Given the description of an element on the screen output the (x, y) to click on. 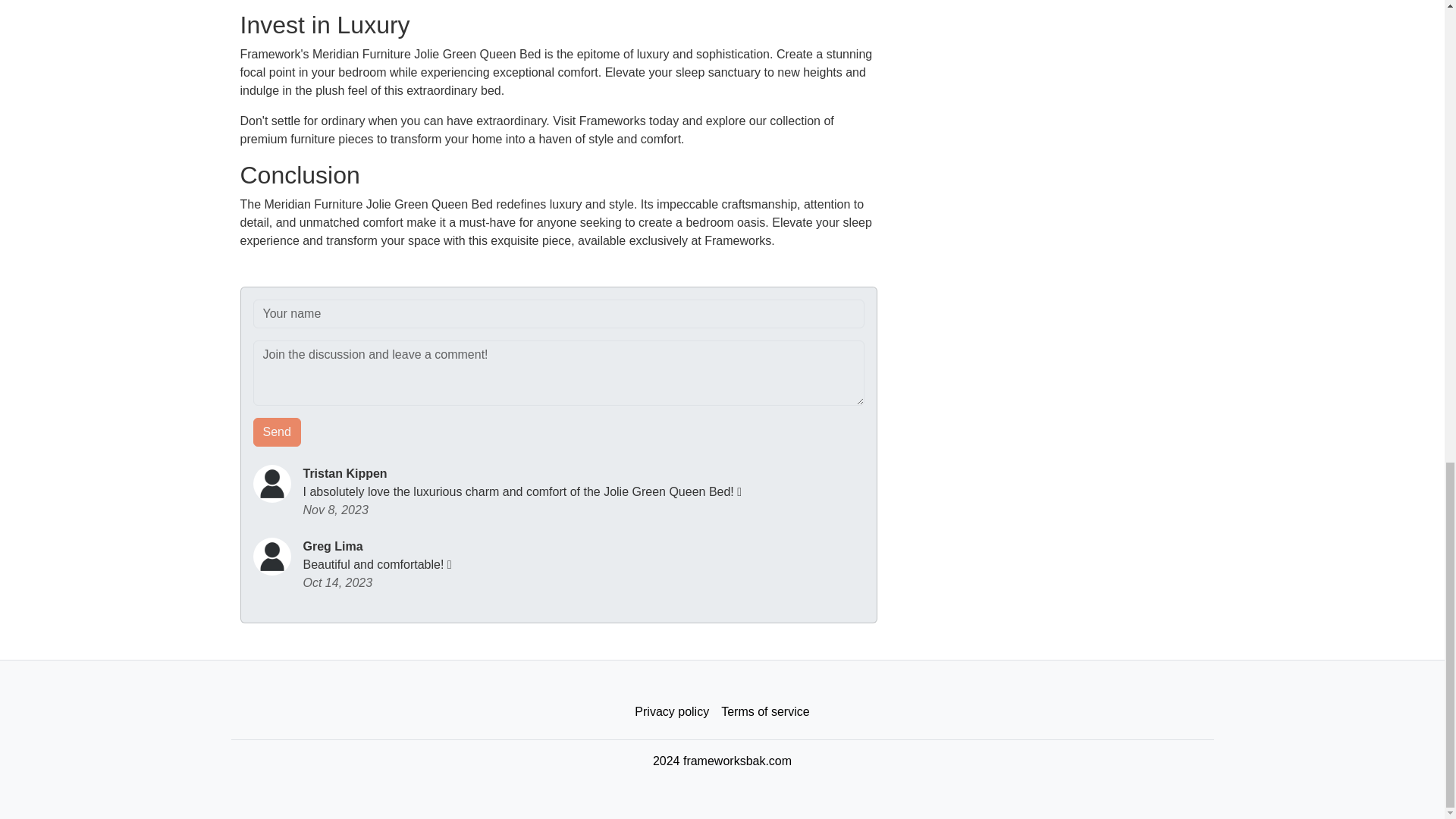
Privacy policy (671, 711)
Send (277, 431)
Send (277, 431)
Terms of service (764, 711)
